Given the description of an element on the screen output the (x, y) to click on. 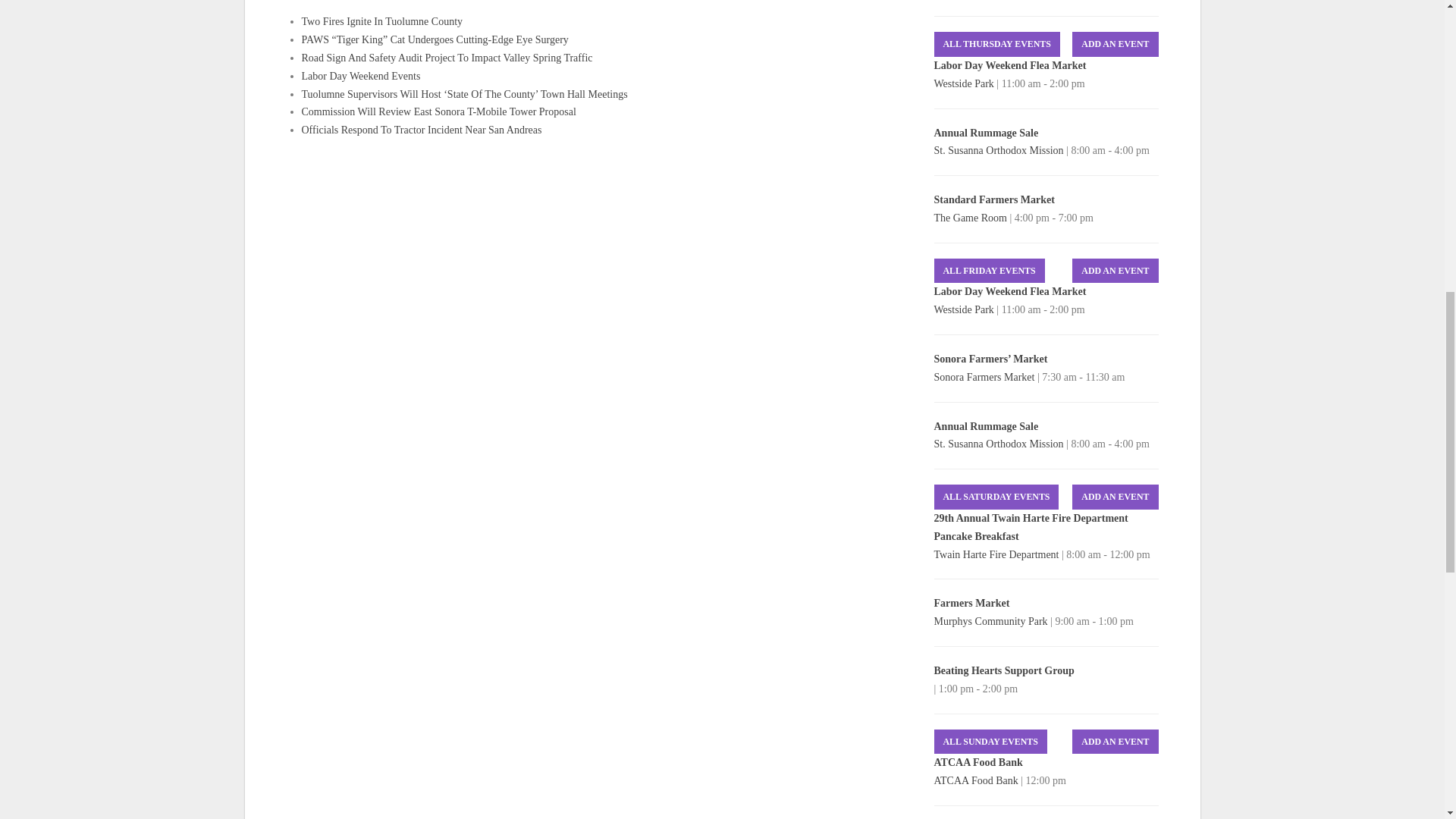
All Sunday Events (990, 741)
Add An Event (1114, 496)
All Friday Events (989, 270)
All Thursday Events (996, 43)
All Saturday Events (996, 496)
Add An Event (1114, 741)
Add An Event (1114, 43)
Add An Event (1114, 270)
